Given the description of an element on the screen output the (x, y) to click on. 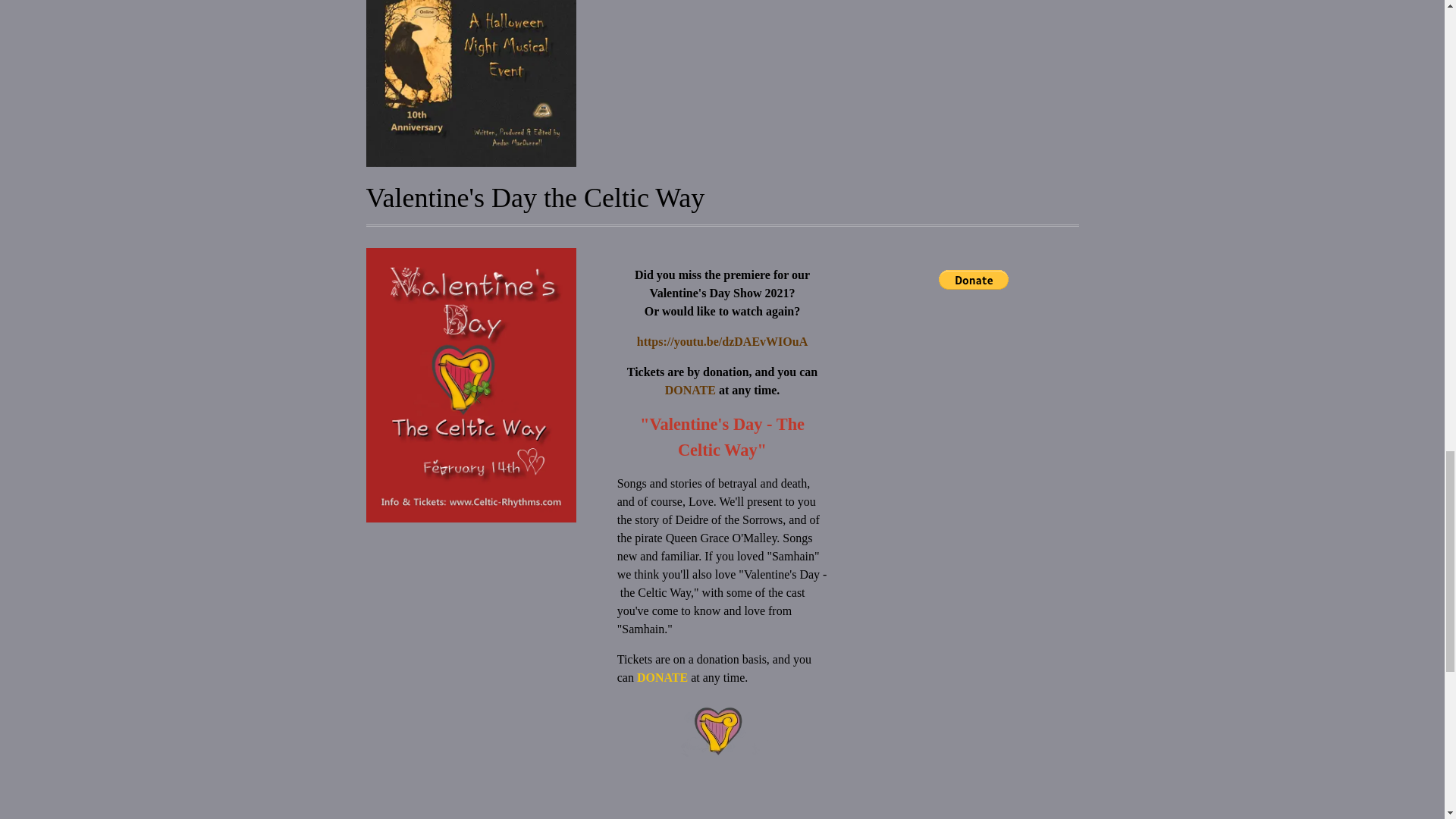
DONATE (692, 390)
DONATE (663, 676)
